Given the description of an element on the screen output the (x, y) to click on. 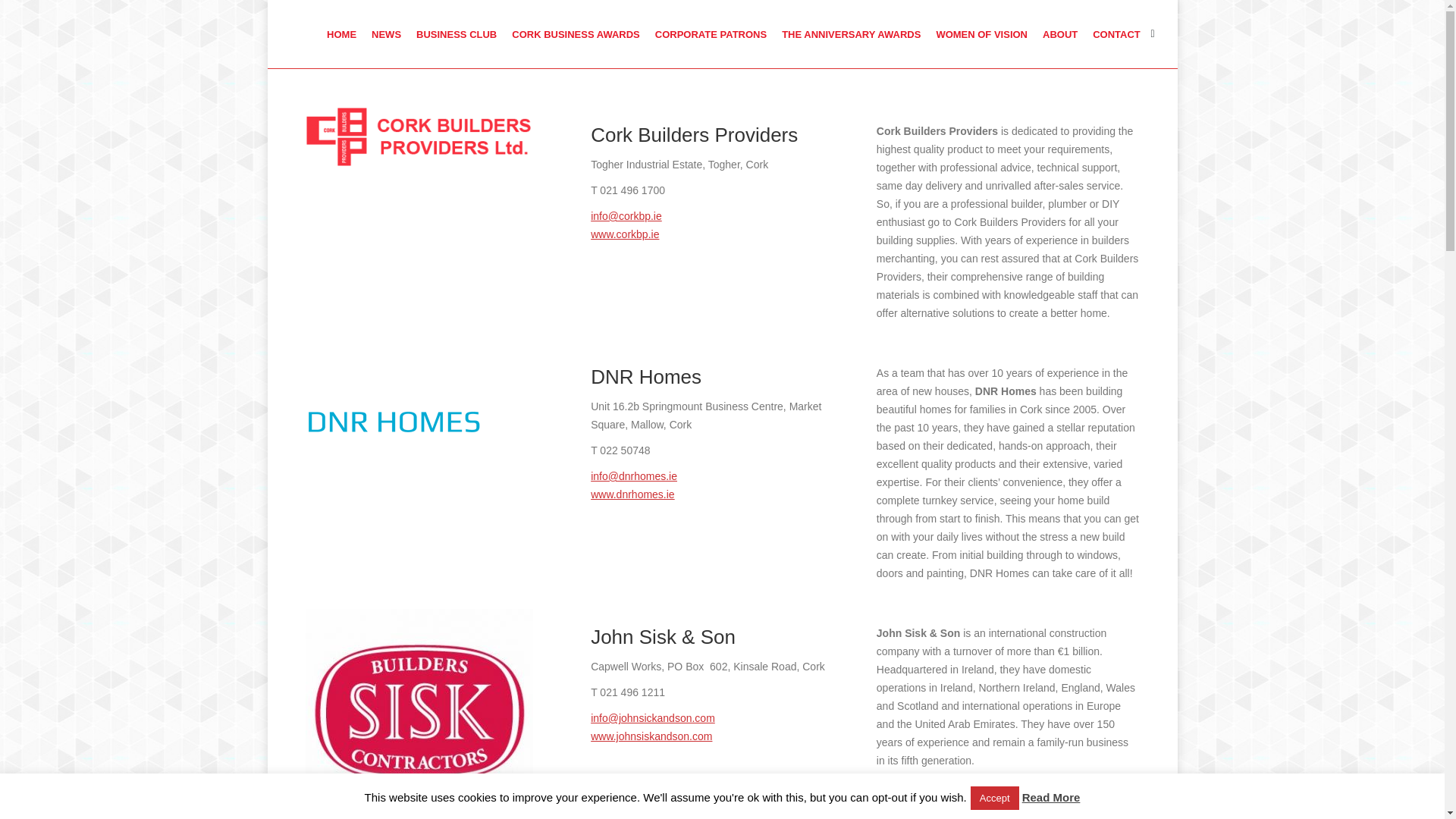
ABOUT (1060, 33)
DNR Homes (392, 391)
www.dnrhomes.ie (633, 494)
www.johnsiskandson.com (651, 736)
Cork Builders Providers (418, 137)
WOMEN OF VISION (980, 33)
BUSINESS CLUB (456, 33)
Go! (22, 15)
CONTACT (1116, 33)
www.corkbp.ie (625, 234)
CORK BUSINESS AWARDS (575, 33)
THE ANNIVERSARY AWARDS (850, 33)
NEWS (386, 33)
CORPORATE PATRONS (710, 33)
HOME (341, 33)
